Given the description of an element on the screen output the (x, y) to click on. 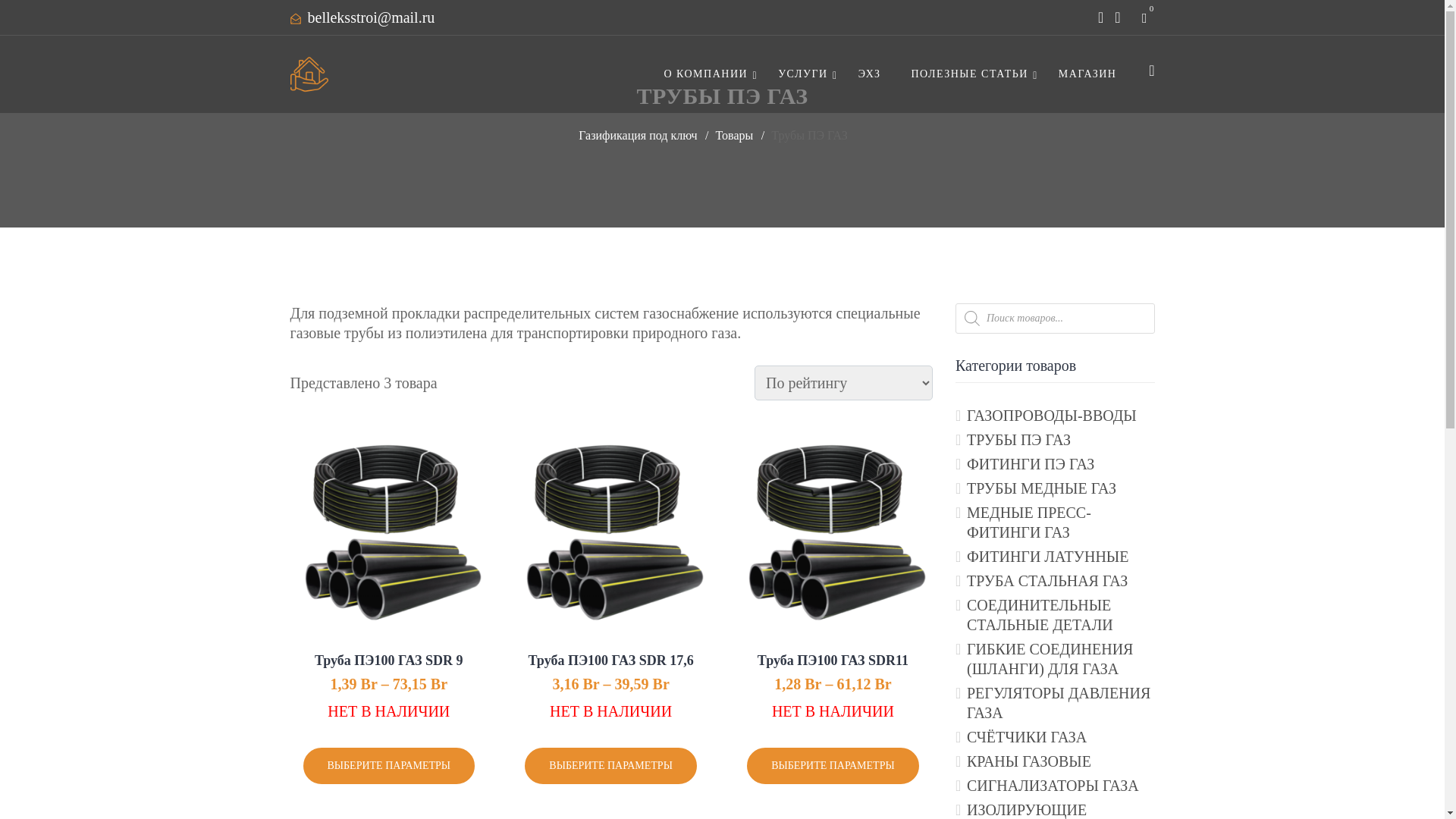
0 Element type: text (1144, 17)
belleksstroi@mail.ru Element type: text (371, 17)
